Given the description of an element on the screen output the (x, y) to click on. 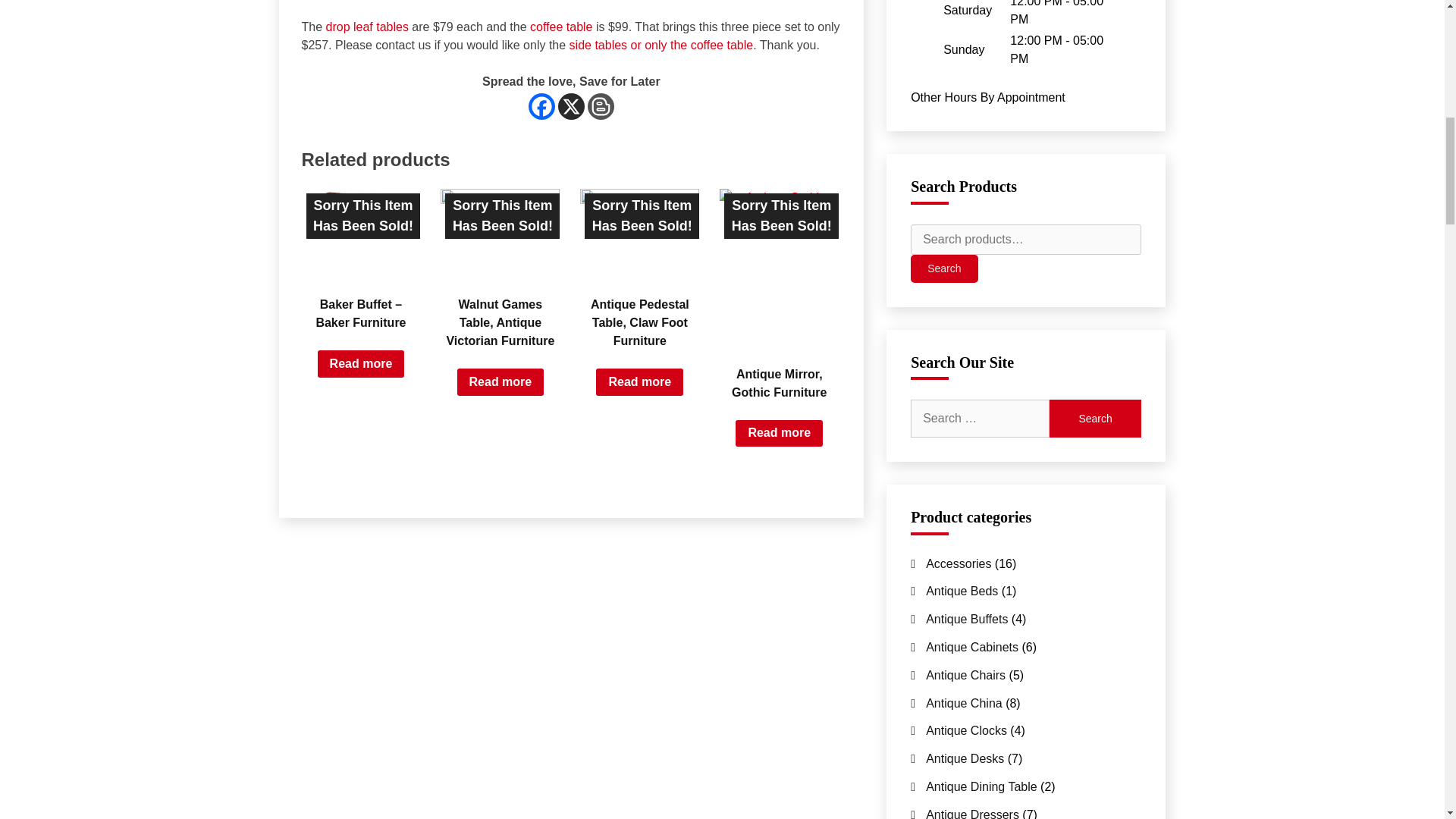
Facebook (541, 106)
Search (1095, 418)
coffee table (560, 26)
X (571, 106)
Blogger Post (601, 106)
Antique Drop Leaf Table, Mahogany Furniture (367, 26)
Search (1095, 418)
side tables or only the coffee table (661, 44)
Antique Victorian Walnut Games Table (500, 233)
drop leaf tables (367, 26)
